Given the description of an element on the screen output the (x, y) to click on. 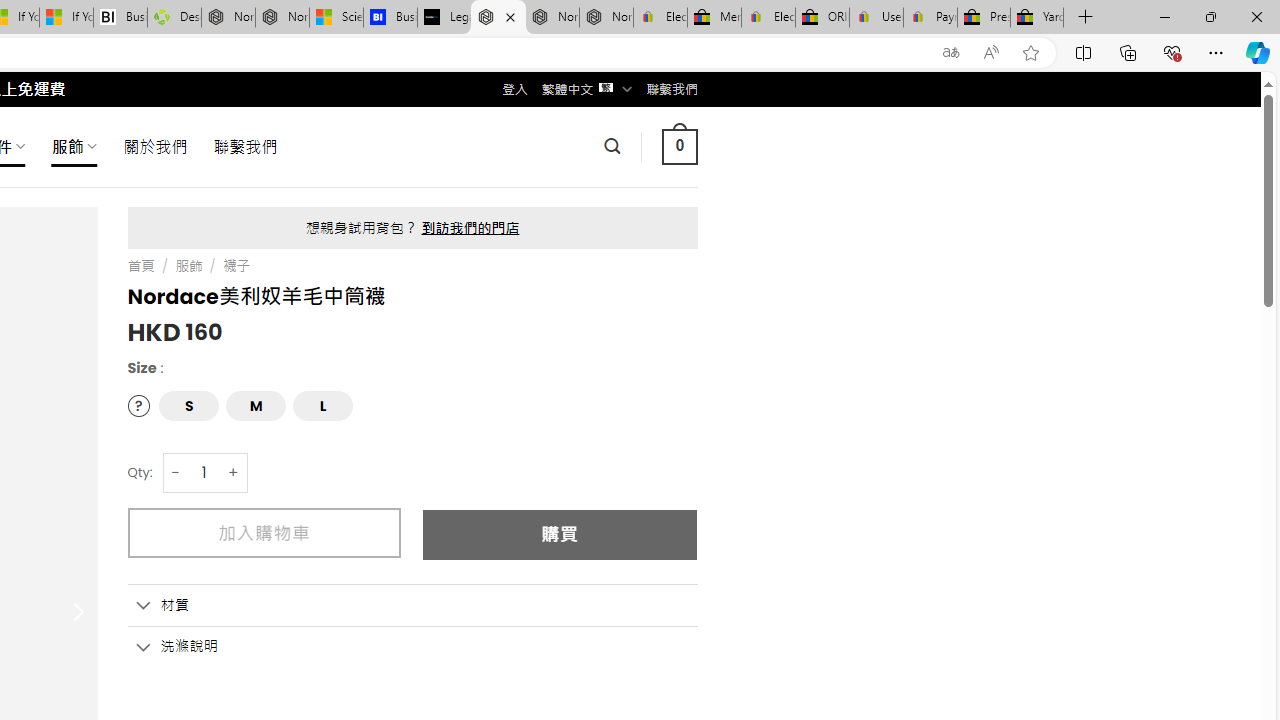
  0   (679, 146)
Payments Terms of Use | eBay.com (930, 17)
 0  (679, 146)
